Given the description of an element on the screen output the (x, y) to click on. 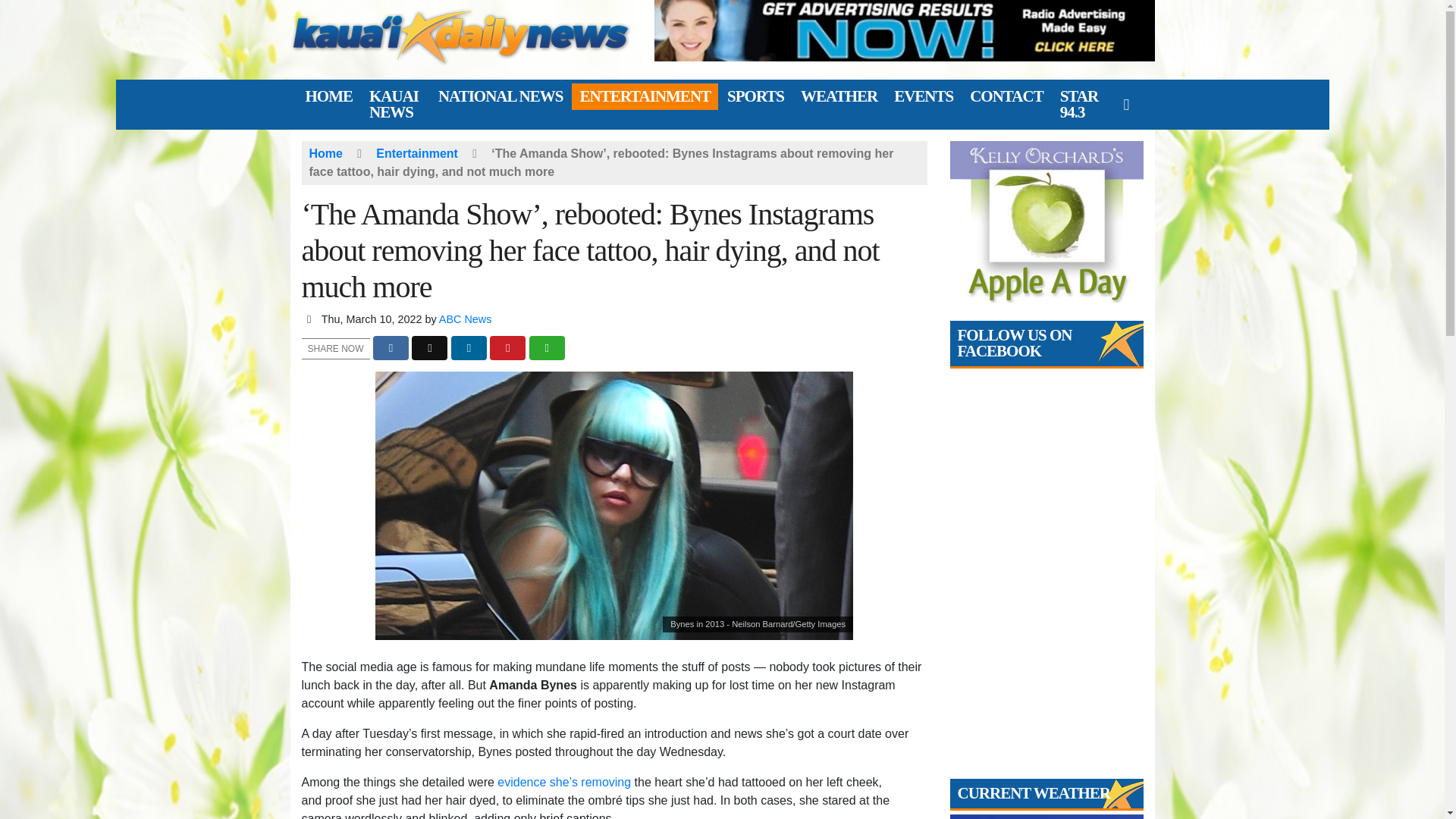
Share via E-Mail (546, 348)
Share to Pinterest (507, 348)
Share to LinkedIn (468, 348)
Share to X (429, 348)
Share to Facebook (390, 348)
Posts by ABC News (465, 318)
